Given the description of an element on the screen output the (x, y) to click on. 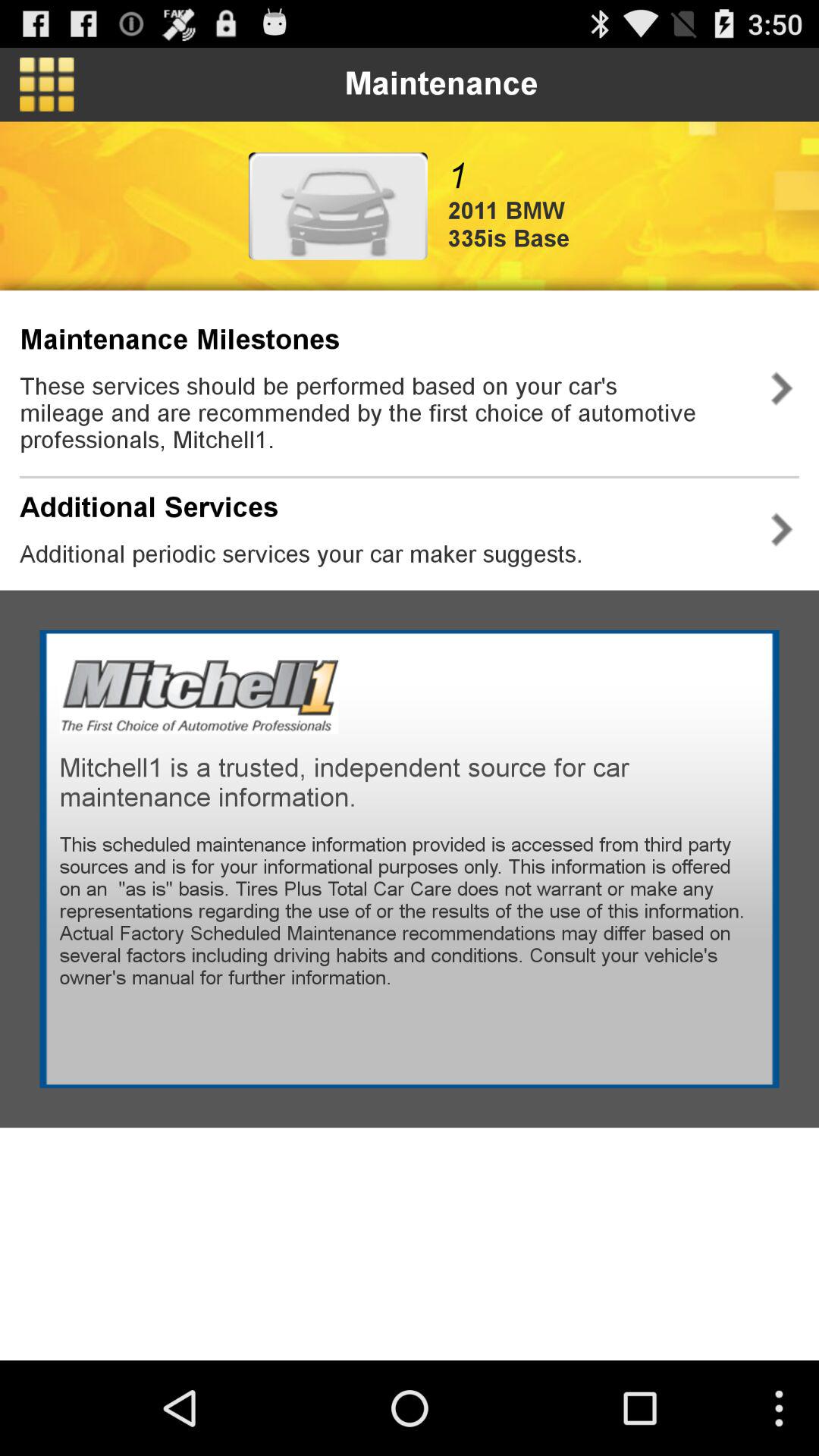
turn on app to the left of the maintenance item (46, 84)
